Given the description of an element on the screen output the (x, y) to click on. 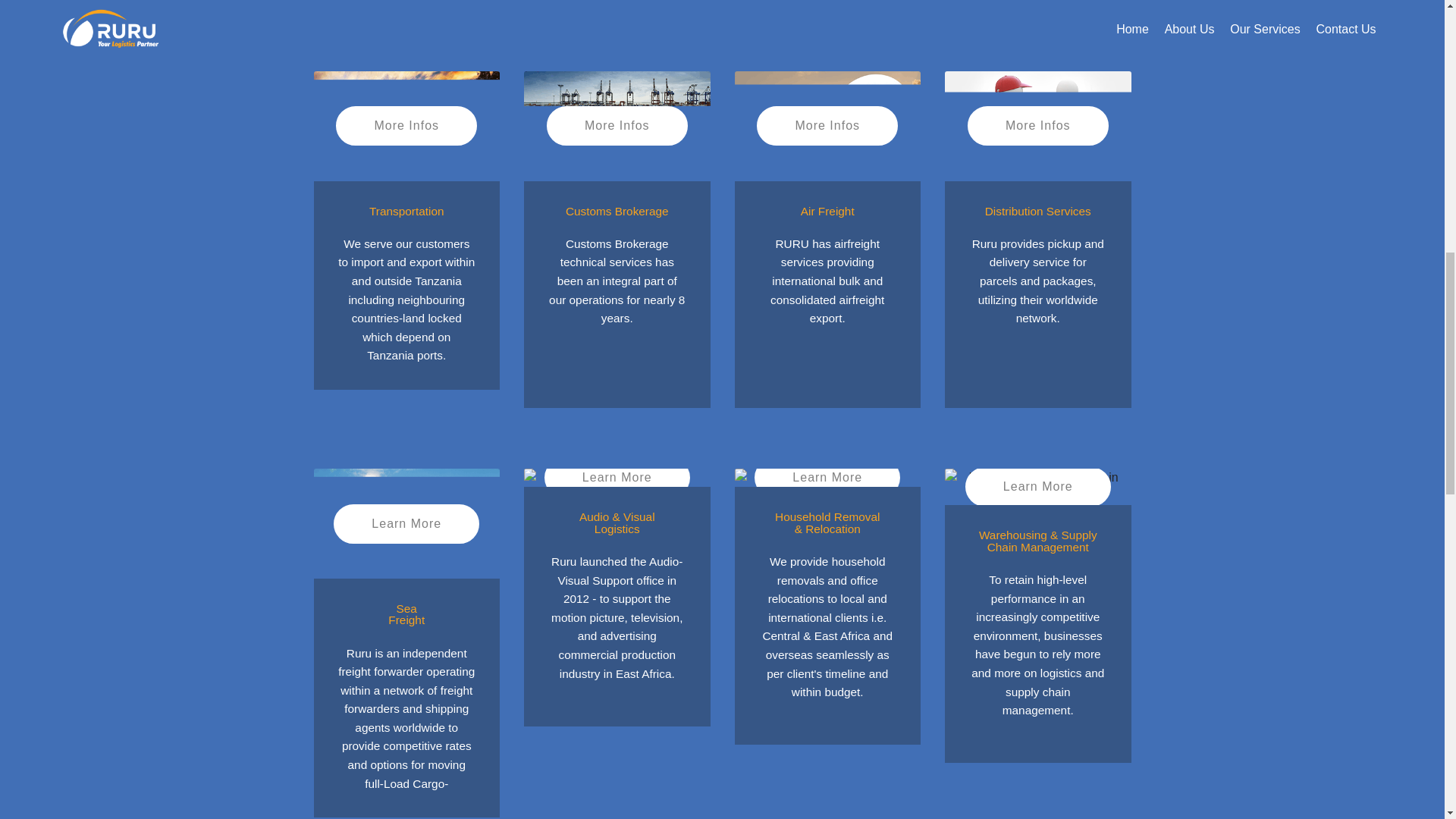
Learn More (1037, 486)
More Infos (1038, 125)
Learn More (826, 477)
More Infos (827, 125)
International Courier (1037, 125)
Learn More (406, 523)
Relocation (826, 477)
Air Freight (826, 125)
Sea Freight (407, 523)
Learn More (617, 477)
Road Haulage (407, 125)
Customs Brokerage (617, 125)
More Infos (617, 125)
More Infos (406, 125)
